Given the description of an element on the screen output the (x, y) to click on. 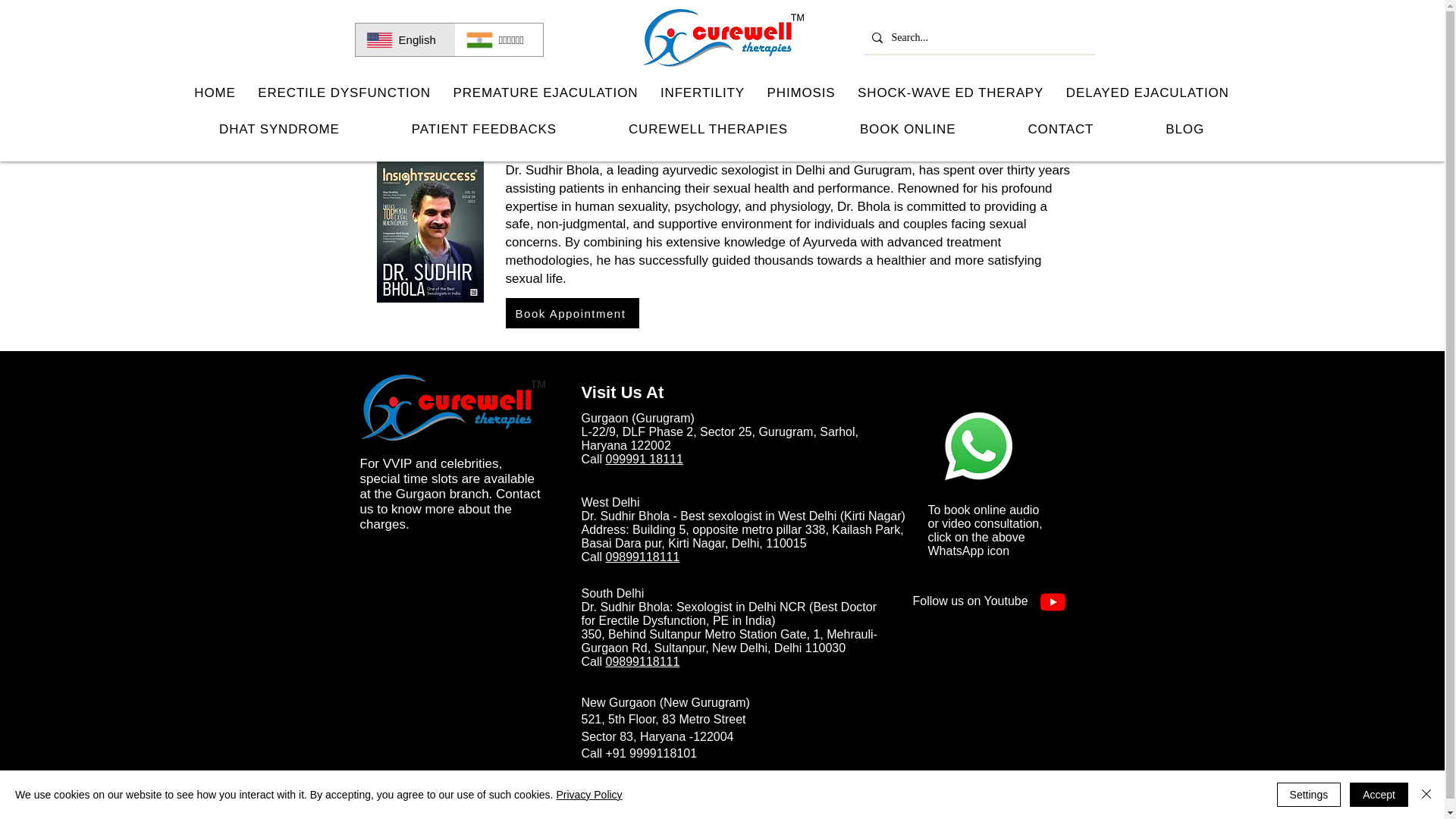
ERECTILE DYSFUNCTION (343, 92)
Terms and Conditions (754, 787)
09899118111 (642, 556)
Book Appointment (572, 313)
Curewell Therapies (451, 408)
Privacy Policy (588, 794)
PREMATURE EJACULATION (545, 92)
About Us (900, 788)
09899118111 (642, 661)
Accept (1378, 794)
